Given the description of an element on the screen output the (x, y) to click on. 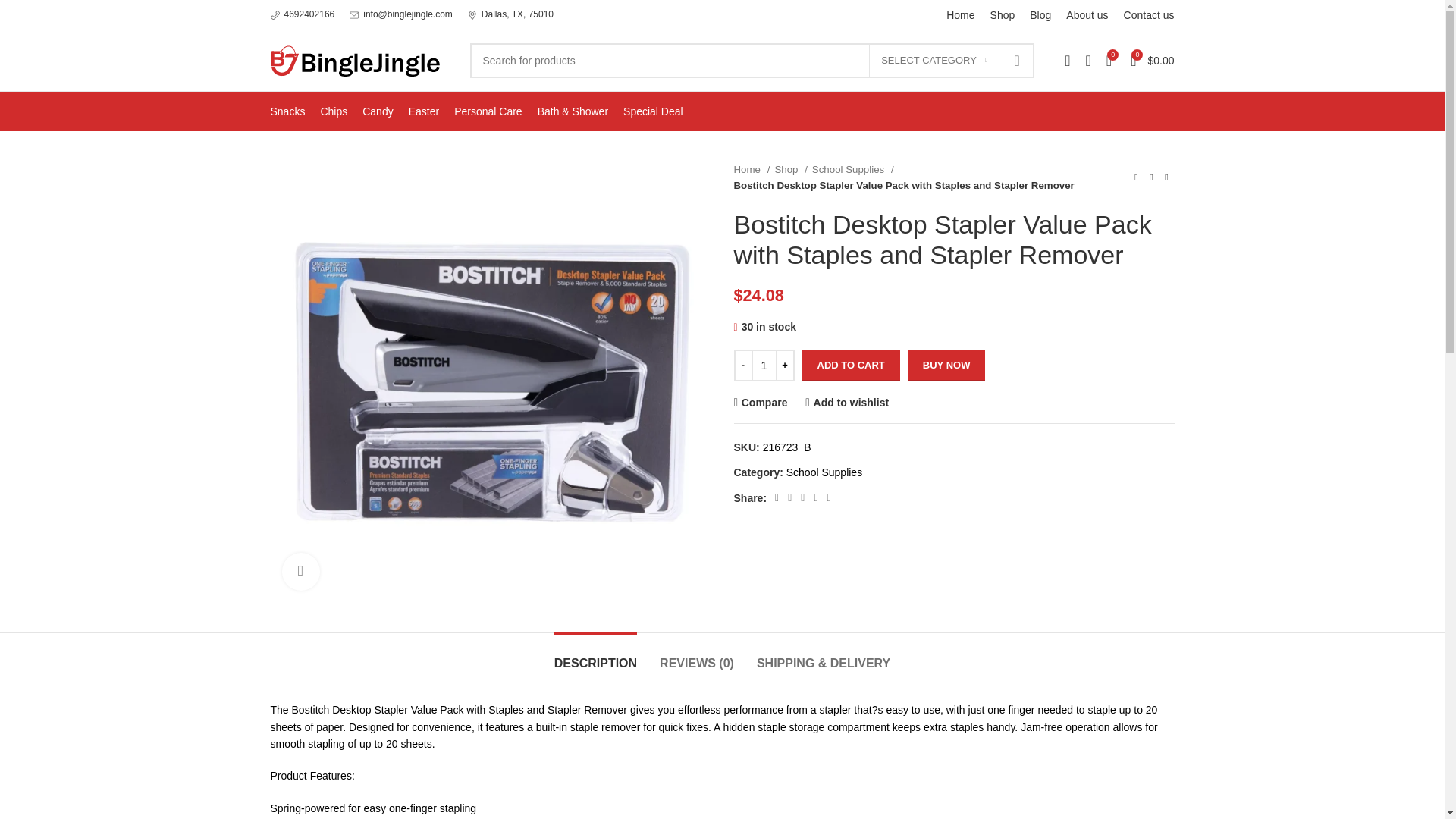
grocery-envelope (353, 14)
About us (1086, 15)
SELECT CATEGORY (933, 60)
Shopping cart (1151, 60)
SELECT CATEGORY (933, 60)
groceryt-phone (274, 14)
grocery-pointer (472, 14)
Contact us (1149, 15)
Search for products (752, 60)
Home (960, 15)
